Given the description of an element on the screen output the (x, y) to click on. 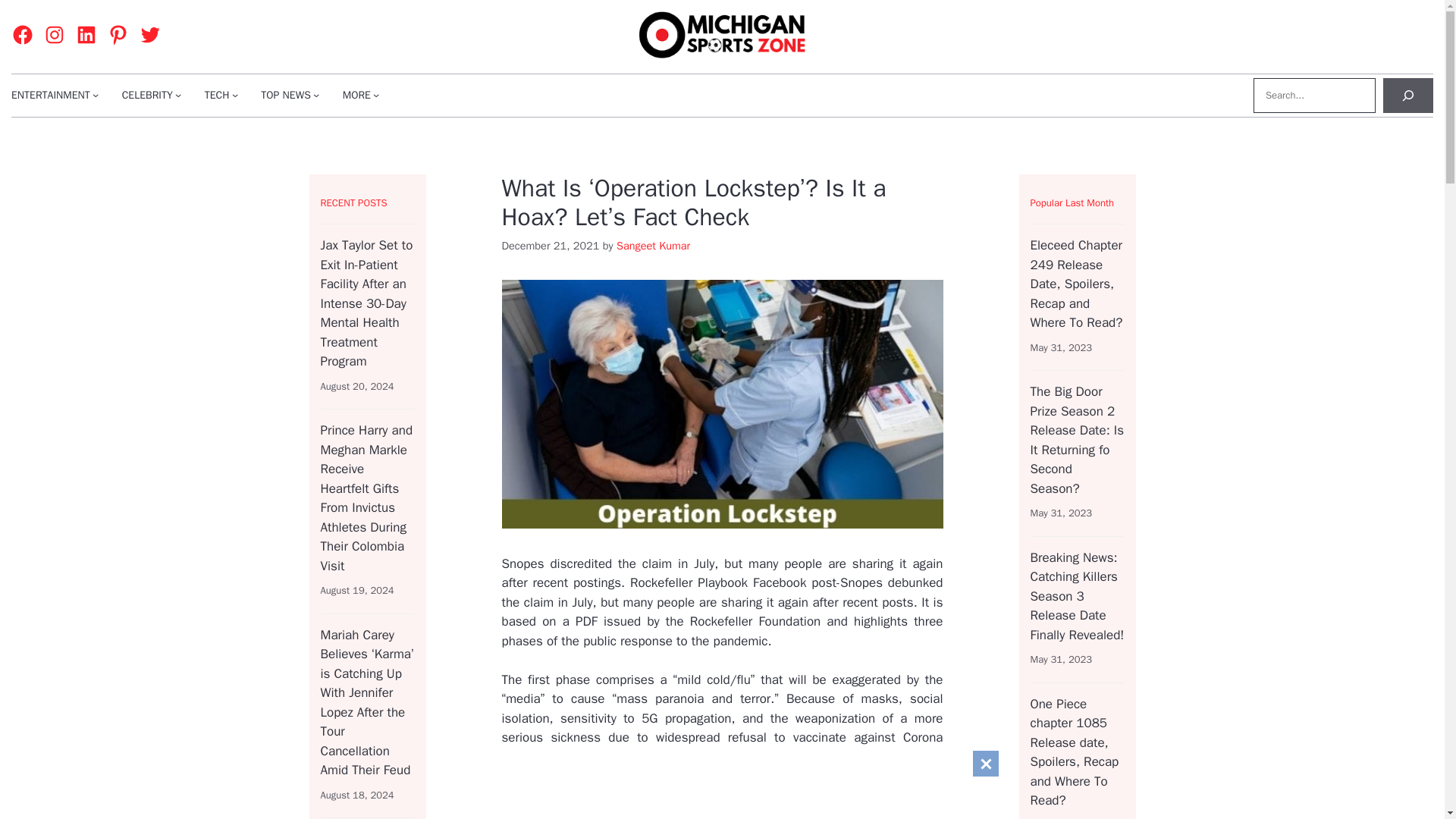
ENTERTAINMENT (50, 94)
TOP NEWS (285, 94)
Twitter (149, 34)
Pinterest (117, 34)
MORE (356, 94)
Sangeet Kumar (652, 245)
CELEBRITY (147, 94)
TECH (217, 94)
View all posts by Sangeet Kumar (652, 245)
Advertisement (837, 802)
